Given the description of an element on the screen output the (x, y) to click on. 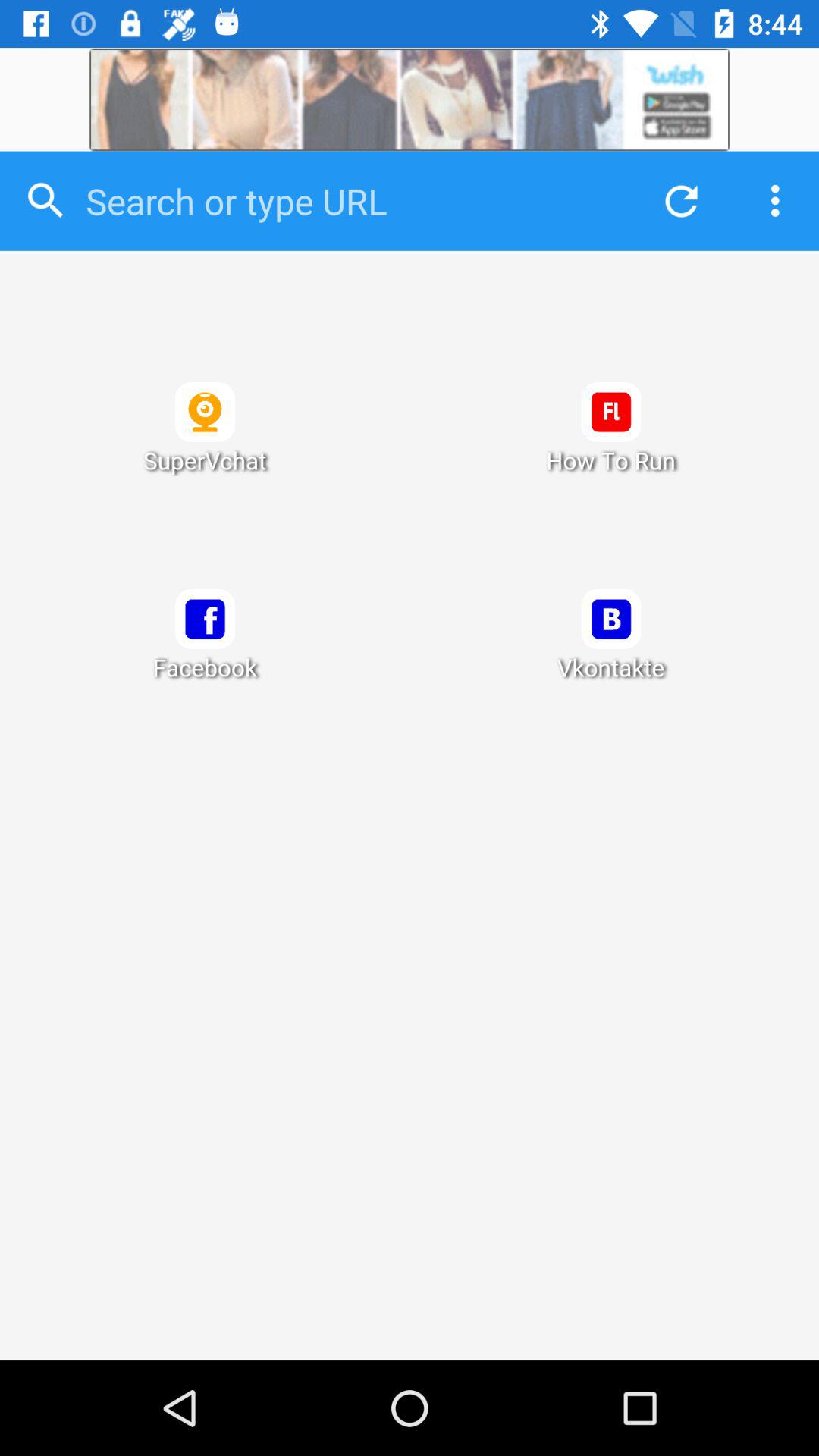
search inside the app (349, 200)
